Given the description of an element on the screen output the (x, y) to click on. 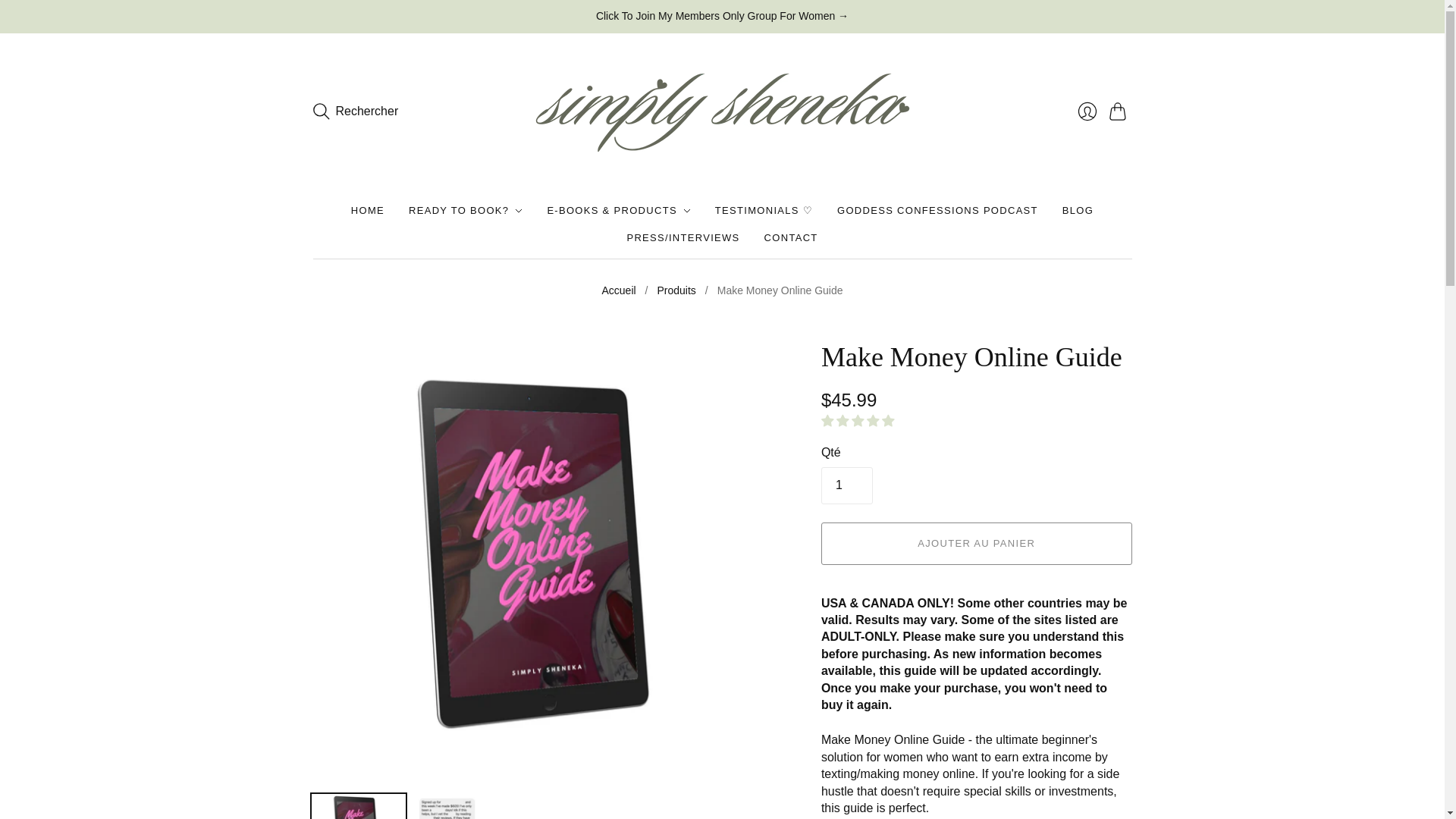
CONTACT (791, 237)
GODDESS CONFESSIONS PODCAST (937, 210)
HOME (367, 210)
Se connecter (1086, 111)
Rechercher (354, 111)
BLOG (1077, 210)
1 (846, 484)
Panier (1119, 111)
